Given the description of an element on the screen output the (x, y) to click on. 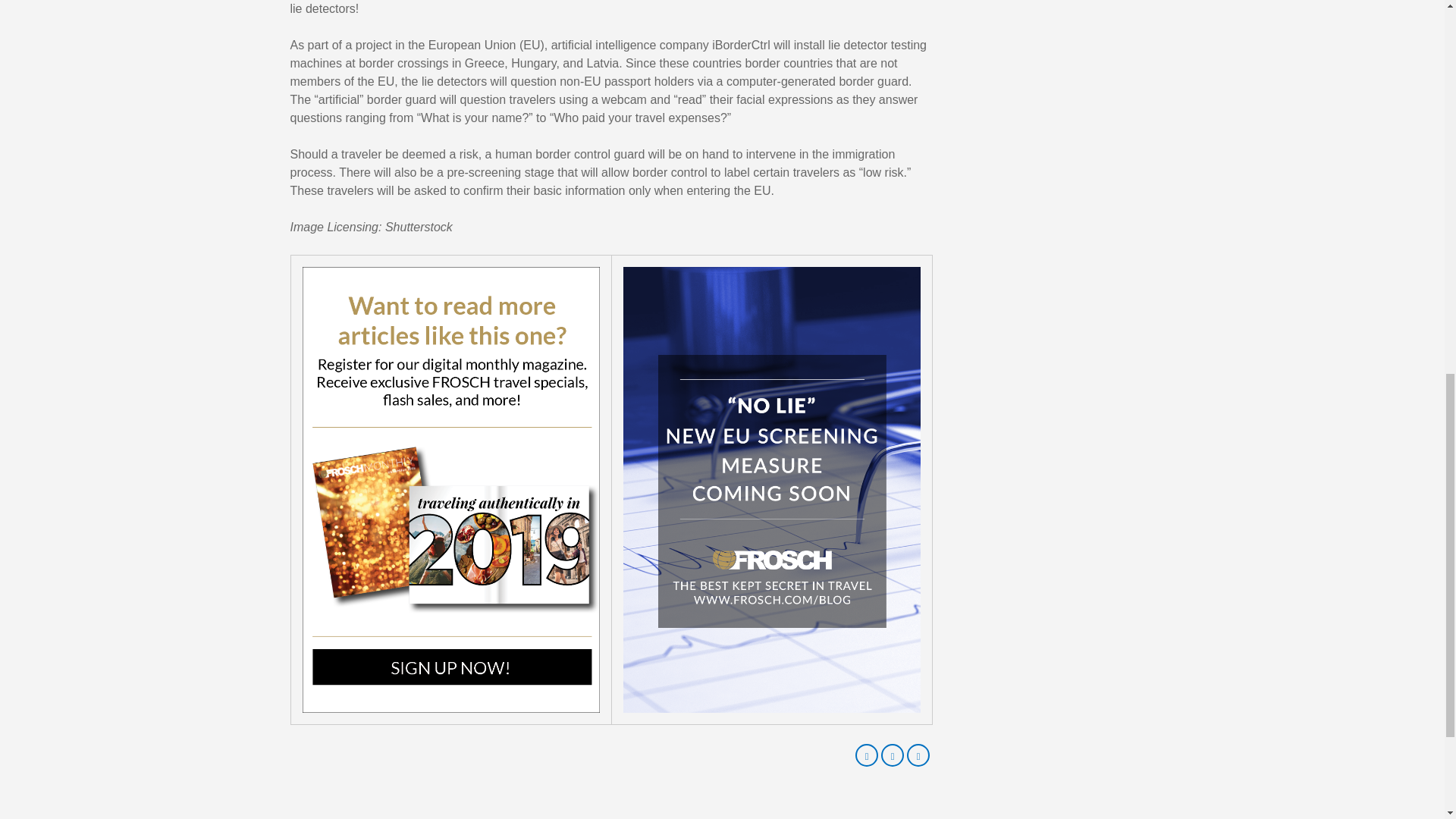
SIGN UP NOW! (449, 488)
